Given the description of an element on the screen output the (x, y) to click on. 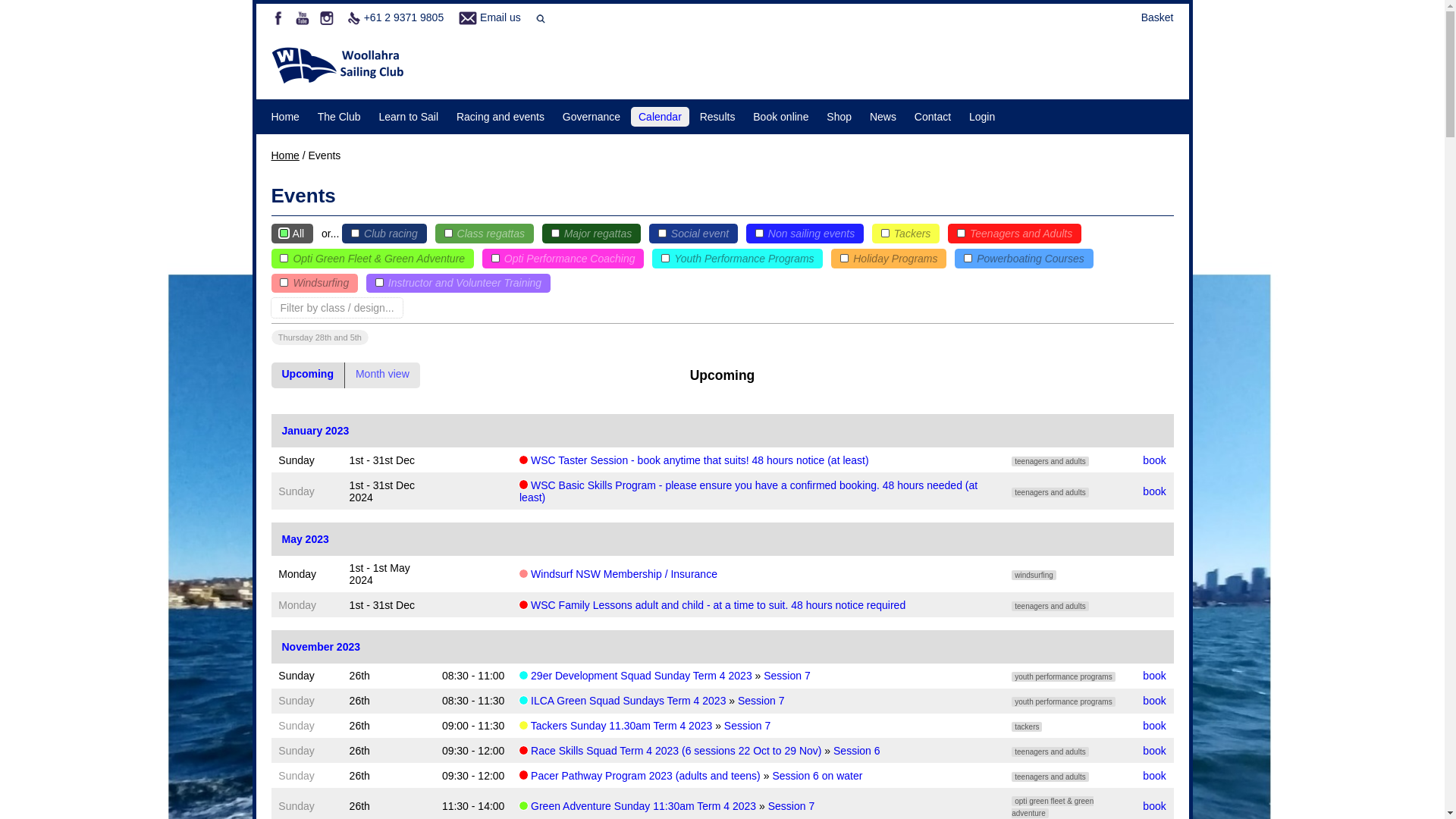
Learn to Sail Element type: text (407, 116)
Shop Element type: text (839, 116)
Session 7 Element type: text (786, 675)
The Club Element type: text (339, 116)
book Element type: text (1153, 700)
Session 6 on water Element type: text (816, 775)
29er Development Squad Sunday Term 4 2023 Element type: text (641, 675)
Session 7 Element type: text (791, 806)
Opti Performance Coaching Element type: text (563, 258)
Tackers Element type: text (905, 233)
book Element type: text (1153, 806)
Session 7 Element type: text (747, 725)
Non sailing events Element type: text (804, 233)
Class regattas Element type: text (484, 233)
January 2023 Element type: text (315, 430)
Major regattas Element type: text (591, 233)
Session 6 Element type: text (856, 750)
Governance Element type: text (591, 116)
Thursday 28th and 5th Element type: text (320, 337)
Contact Element type: text (932, 116)
book Element type: text (1153, 775)
Tackers Sunday 11.30am Term 4 2023 Element type: text (621, 725)
All Element type: text (292, 233)
Pacer Pathway Program 2023 (adults and teens) Element type: text (645, 775)
book Element type: text (1153, 675)
Results Element type: text (717, 116)
Instructor and Volunteer Training Element type: text (458, 283)
Basket Element type: text (1157, 17)
News Element type: text (882, 116)
May 2023 Element type: text (305, 539)
Windsurfing Element type: text (314, 283)
book Element type: text (1153, 491)
Racing and events Element type: text (500, 116)
Month view Element type: text (382, 375)
Race Skills Squad Term 4 2023 (6 sessions 22 Oct to 29 Nov) Element type: text (675, 750)
Filter by class / design... Element type: text (337, 307)
Club racing Element type: text (384, 233)
Login Element type: text (981, 116)
Teenagers and Adults Element type: text (1014, 233)
ILCA Green Squad Sundays Term 4 2023 Element type: text (627, 700)
book Element type: text (1153, 725)
Email us Element type: text (500, 17)
Youth Performance Programs Element type: text (737, 258)
Upcoming Element type: text (308, 375)
Opti Green Fleet & Green Adventure Element type: text (372, 258)
book Element type: text (1153, 460)
Home Element type: text (285, 155)
Book online Element type: text (780, 116)
Green Adventure Sunday 11:30am Term 4 2023 Element type: text (643, 806)
November 2023 Element type: text (321, 646)
Calendar Element type: text (659, 116)
Home Element type: text (285, 116)
Session 7 Element type: text (760, 700)
Social event Element type: text (693, 233)
Holiday Programs Element type: text (888, 258)
Windsurf NSW Membership / Insurance Element type: text (623, 573)
book Element type: text (1153, 750)
Powerboating Courses Element type: text (1023, 258)
